Given the description of an element on the screen output the (x, y) to click on. 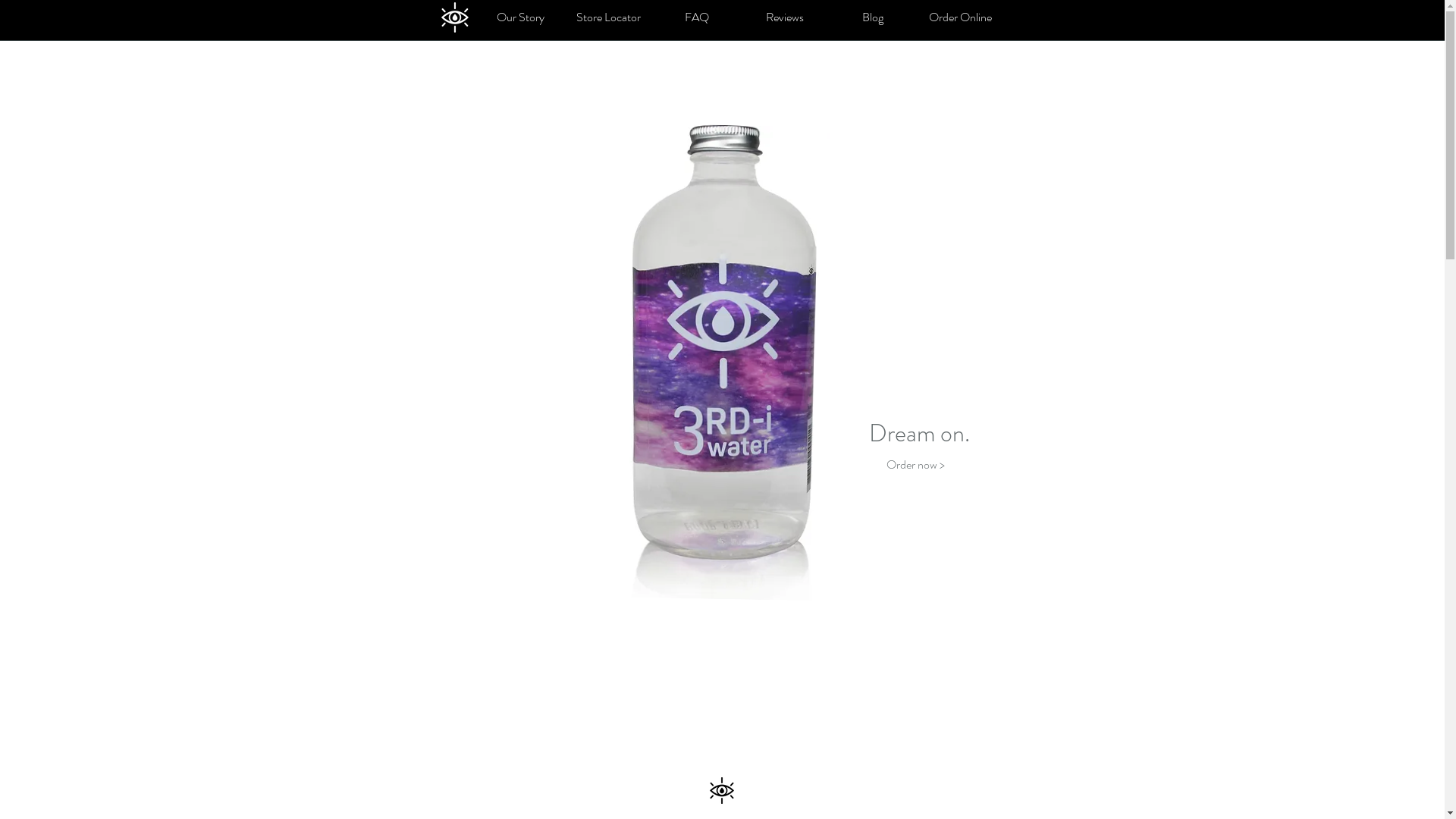
Reviews Element type: text (784, 17)
Blog Element type: text (872, 17)
Order now > Element type: text (915, 464)
Order Online Element type: text (960, 17)
FAQ Element type: text (696, 17)
Our Story Element type: text (520, 17)
Store Locator Element type: text (608, 17)
